Given the description of an element on the screen output the (x, y) to click on. 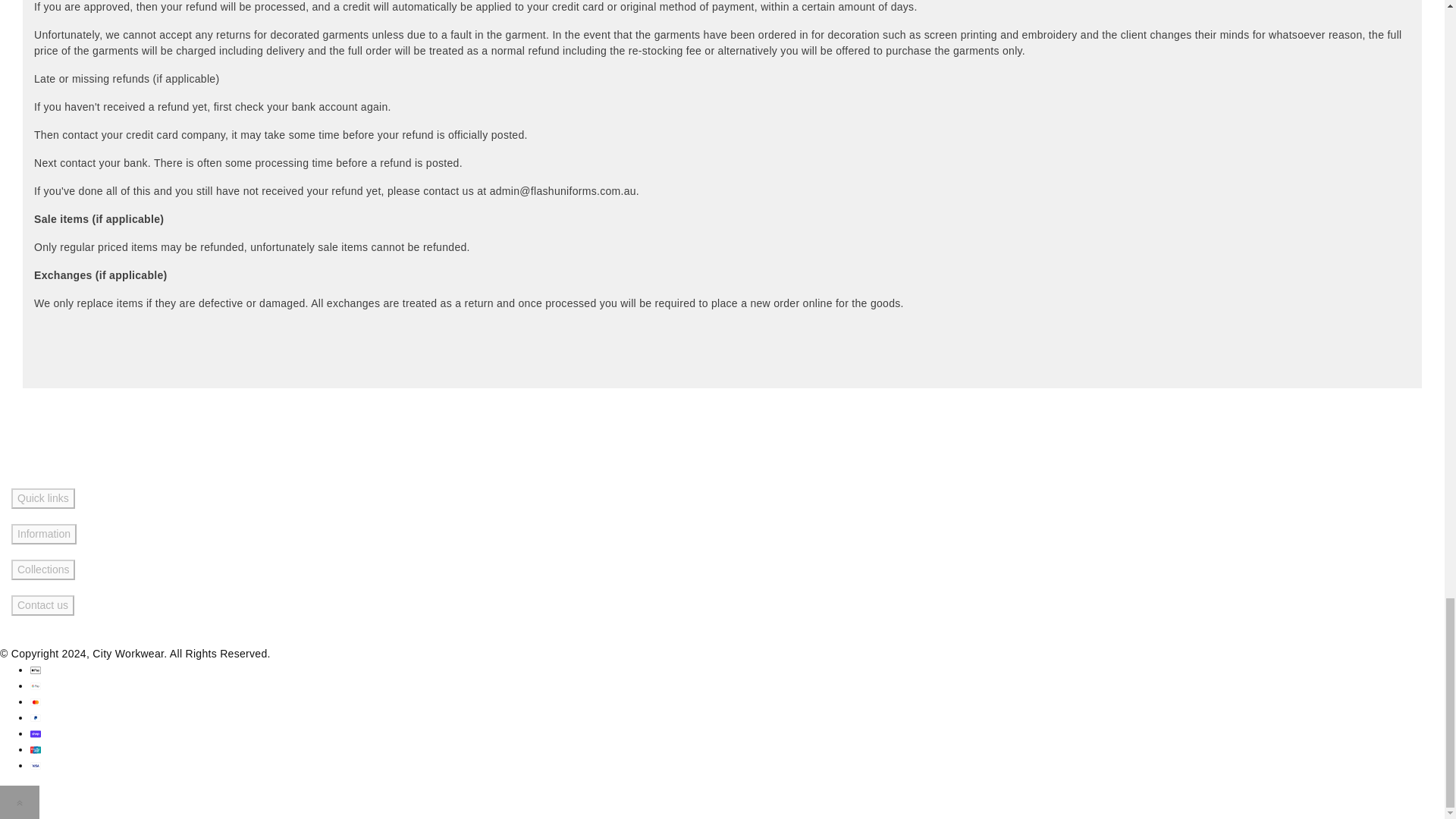
Apple Pay (35, 670)
Mastercard (35, 701)
PayPal (35, 717)
Shop Pay (35, 733)
Google Pay (35, 685)
